Given the description of an element on the screen output the (x, y) to click on. 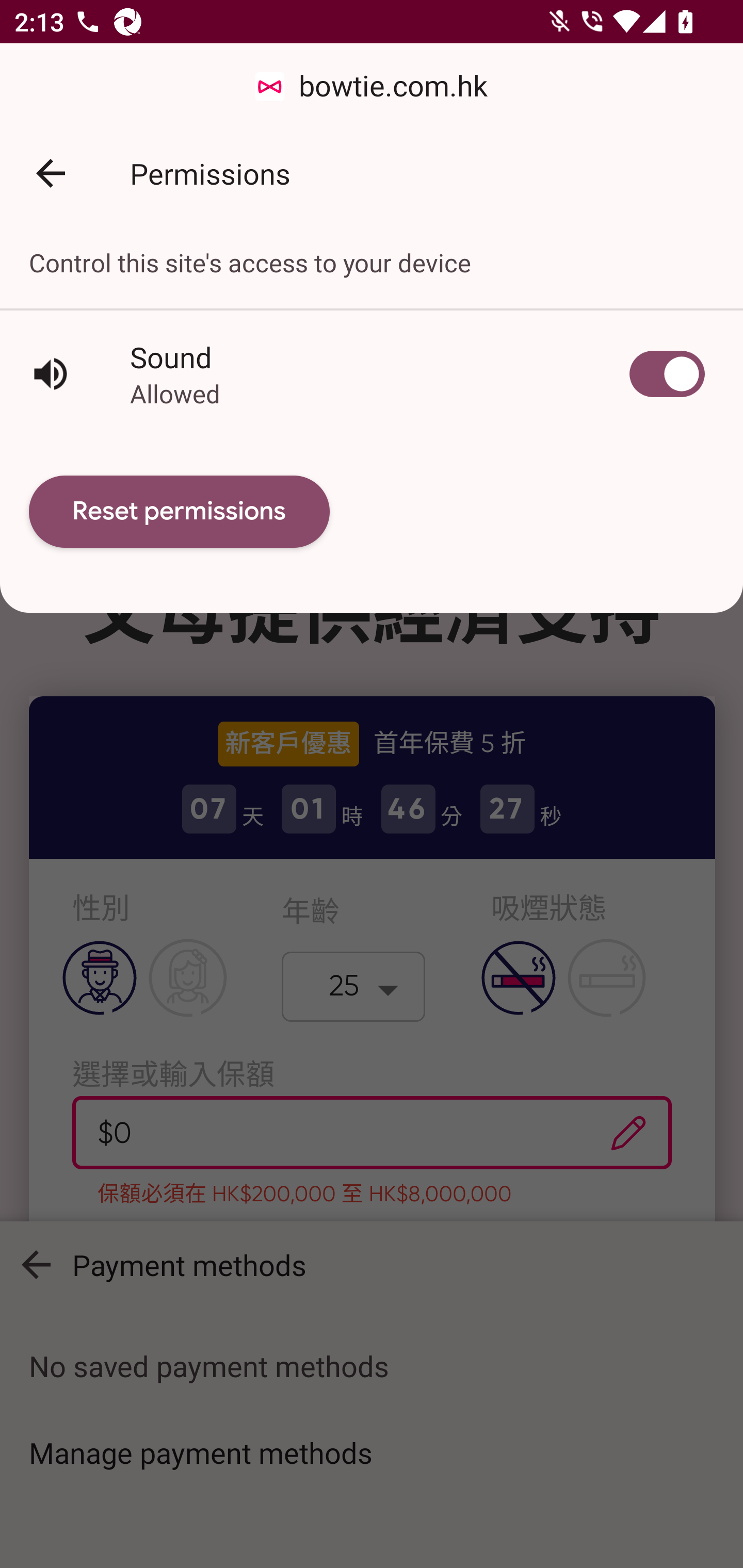
bowtie.com.hk (371, 86)
Back (50, 173)
Sound Allowed (371, 373)
Reset permissions (178, 511)
